Given the description of an element on the screen output the (x, y) to click on. 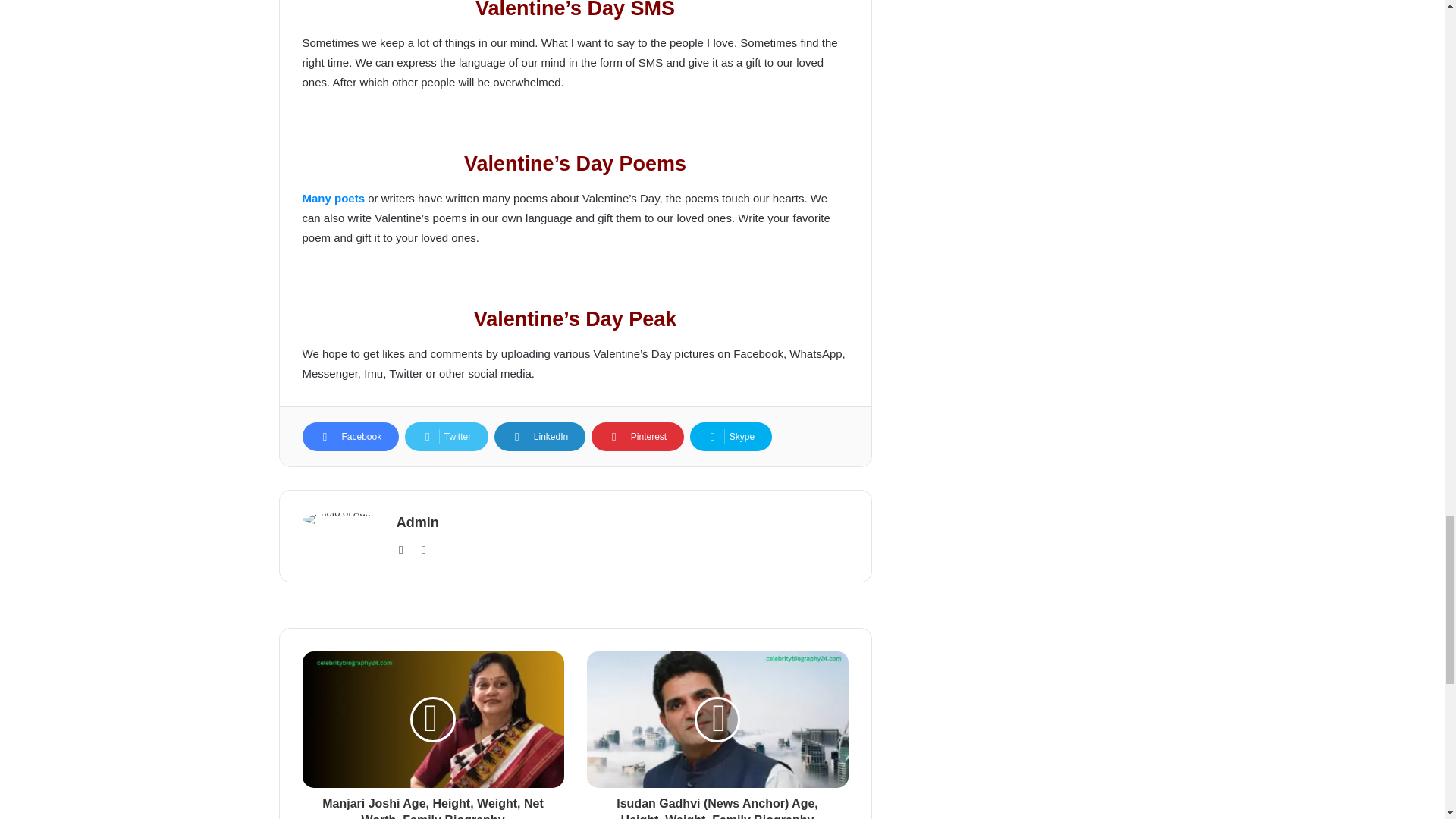
Many poets (333, 197)
Twitter (445, 436)
Facebook (349, 436)
LinkedIn (540, 436)
